Given the description of an element on the screen output the (x, y) to click on. 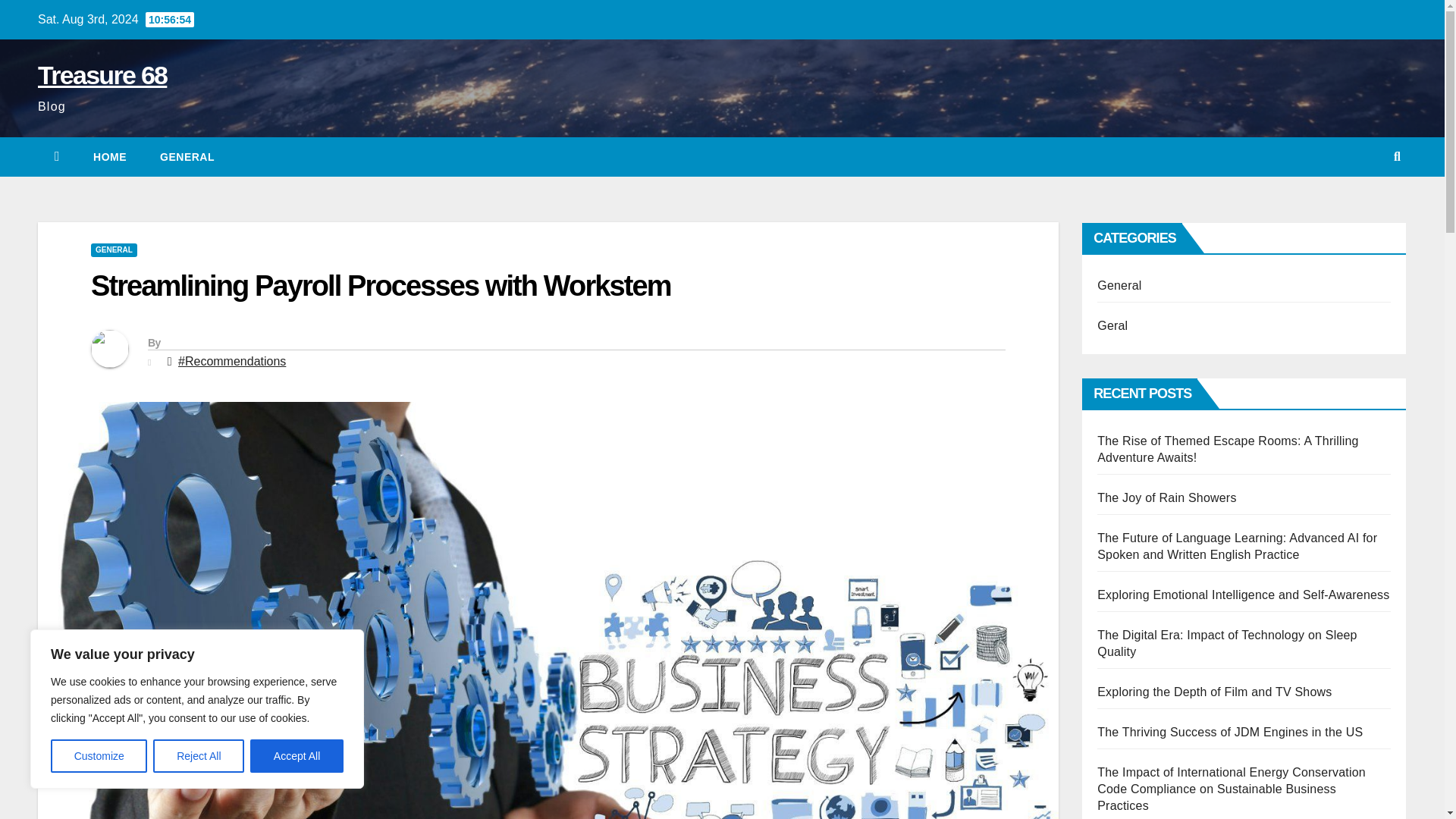
Accept All (296, 756)
Permalink to: Streamlining Payroll Processes with Workstem (380, 286)
Reject All (198, 756)
Customize (98, 756)
General (186, 156)
Streamlining Payroll Processes with Workstem (380, 286)
Home (109, 156)
GENERAL (113, 250)
Treasure 68 (102, 74)
GENERAL (186, 156)
